Given the description of an element on the screen output the (x, y) to click on. 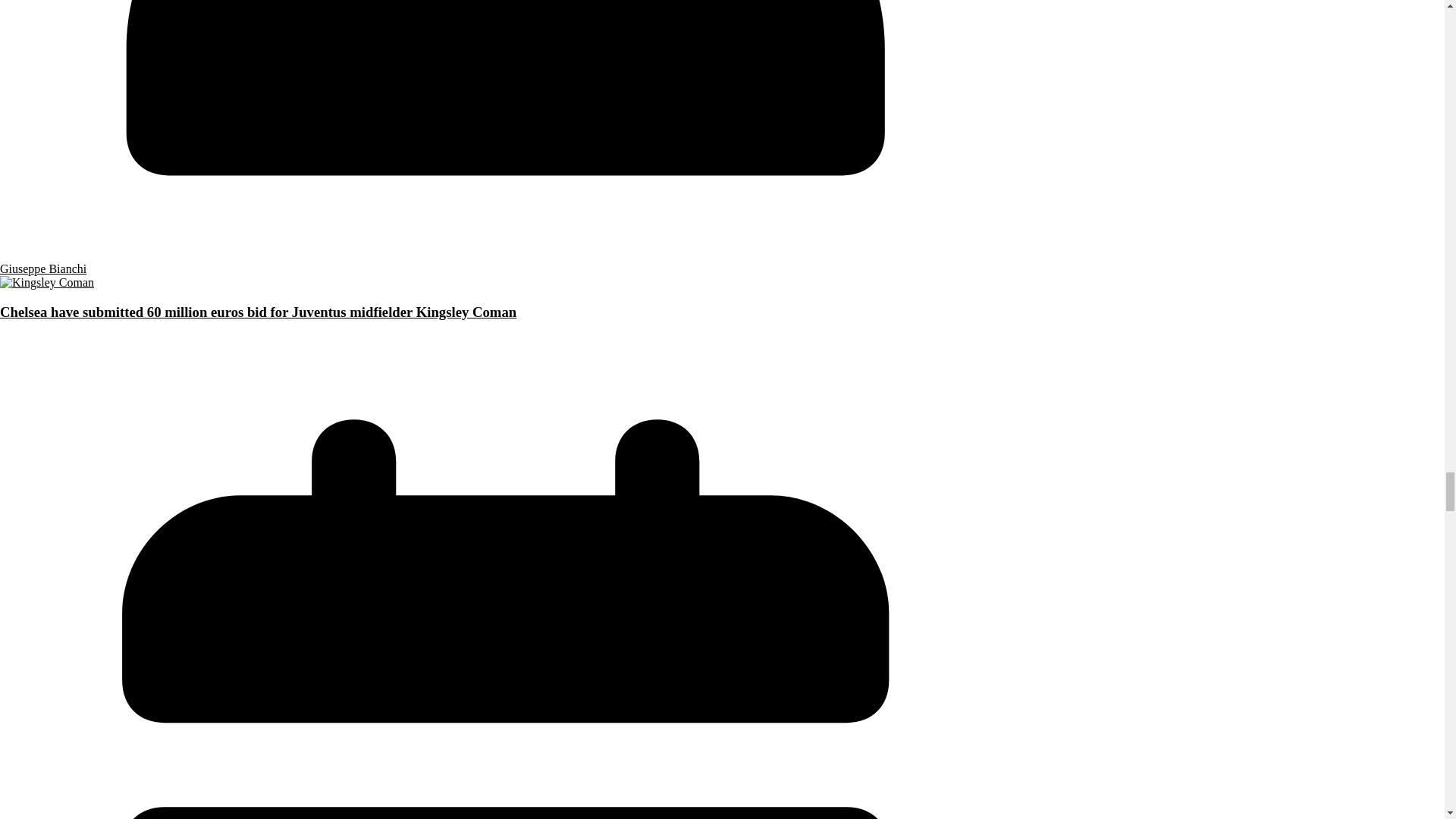
Giuseppe Bianchi (42, 268)
